Given the description of an element on the screen output the (x, y) to click on. 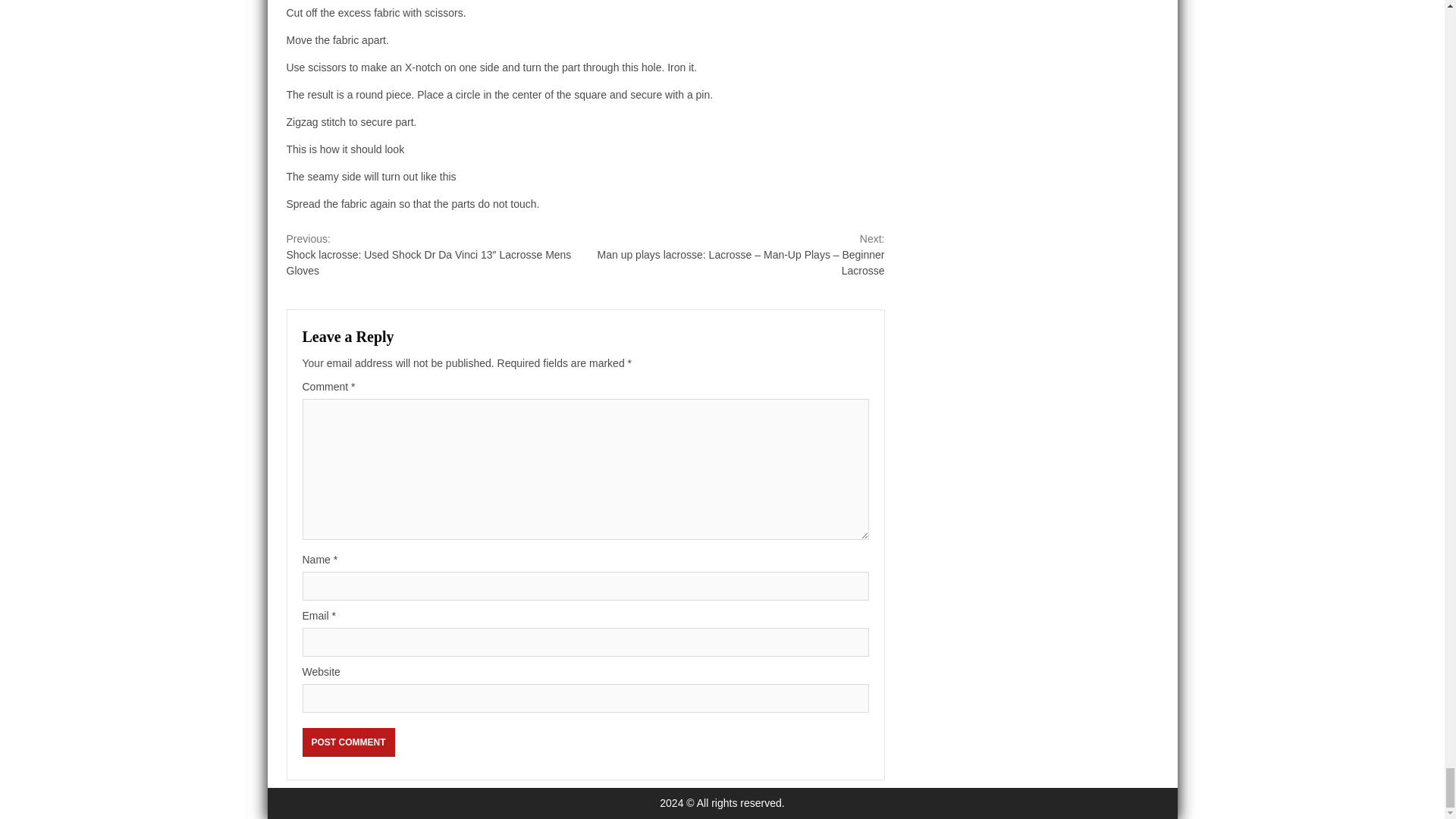
Post Comment (347, 742)
